Given the description of an element on the screen output the (x, y) to click on. 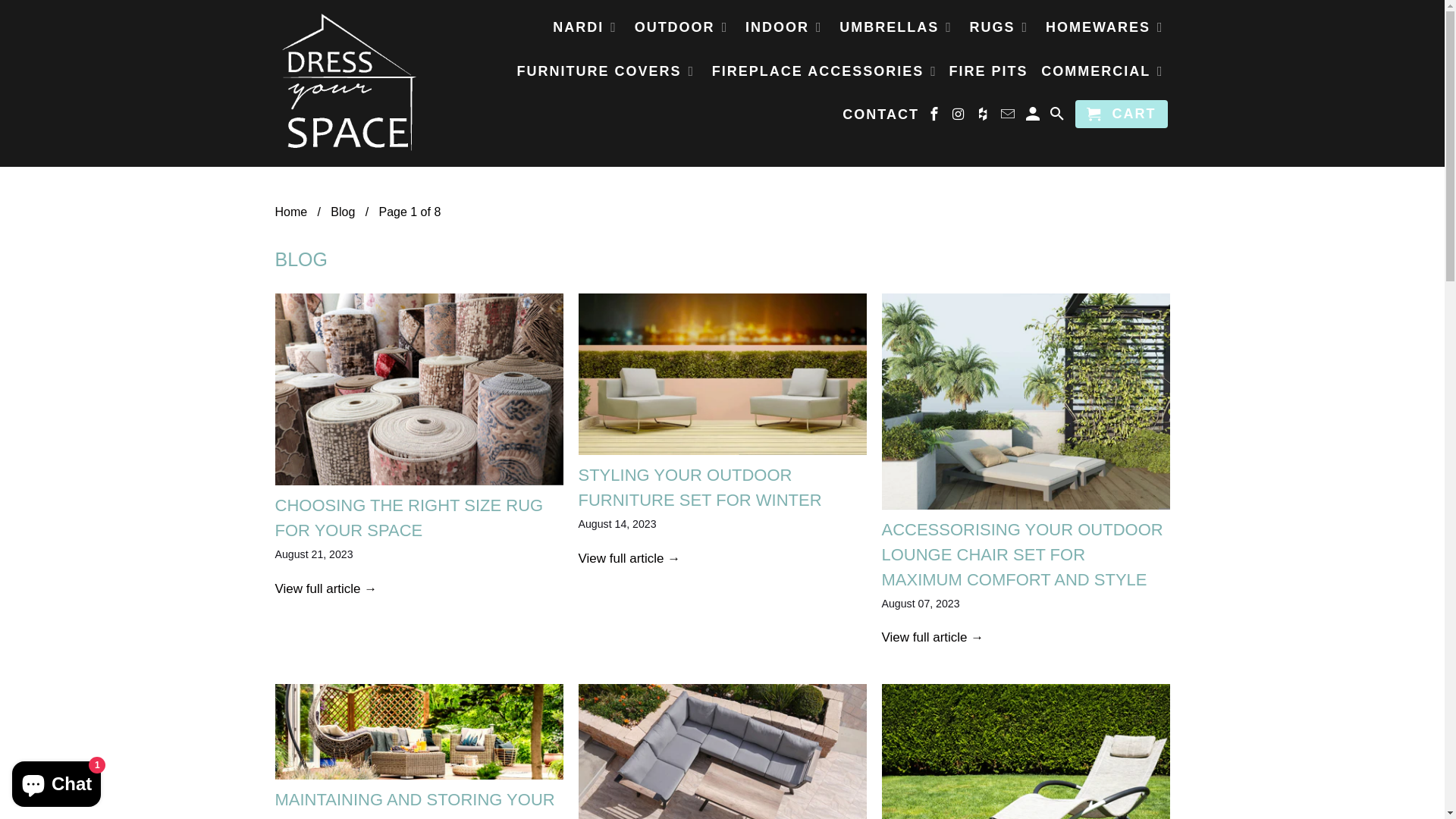
My Account  Element type: hover (1034, 117)
Dress Your Space on Houzz Element type: hover (984, 117)
CART Element type: text (1121, 114)
Blog Element type: text (342, 211)
STYLING YOUR OUTDOOR FURNITURE SET FOR WINTER Element type: text (699, 487)
Maintaining and Storing Your Hanging Egg Chair Element type: hover (418, 731)
BLOG Element type: text (300, 258)
Choosing the Right Size Rug for Your Space Element type: hover (418, 389)
Search Element type: hover (1058, 117)
Dress Your Space on Facebook Element type: hover (935, 117)
CHOOSING THE RIGHT SIZE RUG FOR YOUR SPACE Element type: text (408, 517)
FIRE PITS Element type: text (988, 73)
Dress Your Space on Instagram Element type: hover (959, 117)
Dress Your Space Element type: hover (346, 83)
Home Element type: text (290, 211)
Shopify online store chat Element type: hover (56, 780)
Styling Your Outdoor Furniture Set for Winter Element type: hover (721, 374)
Email Dress Your Space Element type: hover (1009, 117)
CONTACT Element type: text (880, 117)
